Given the description of an element on the screen output the (x, y) to click on. 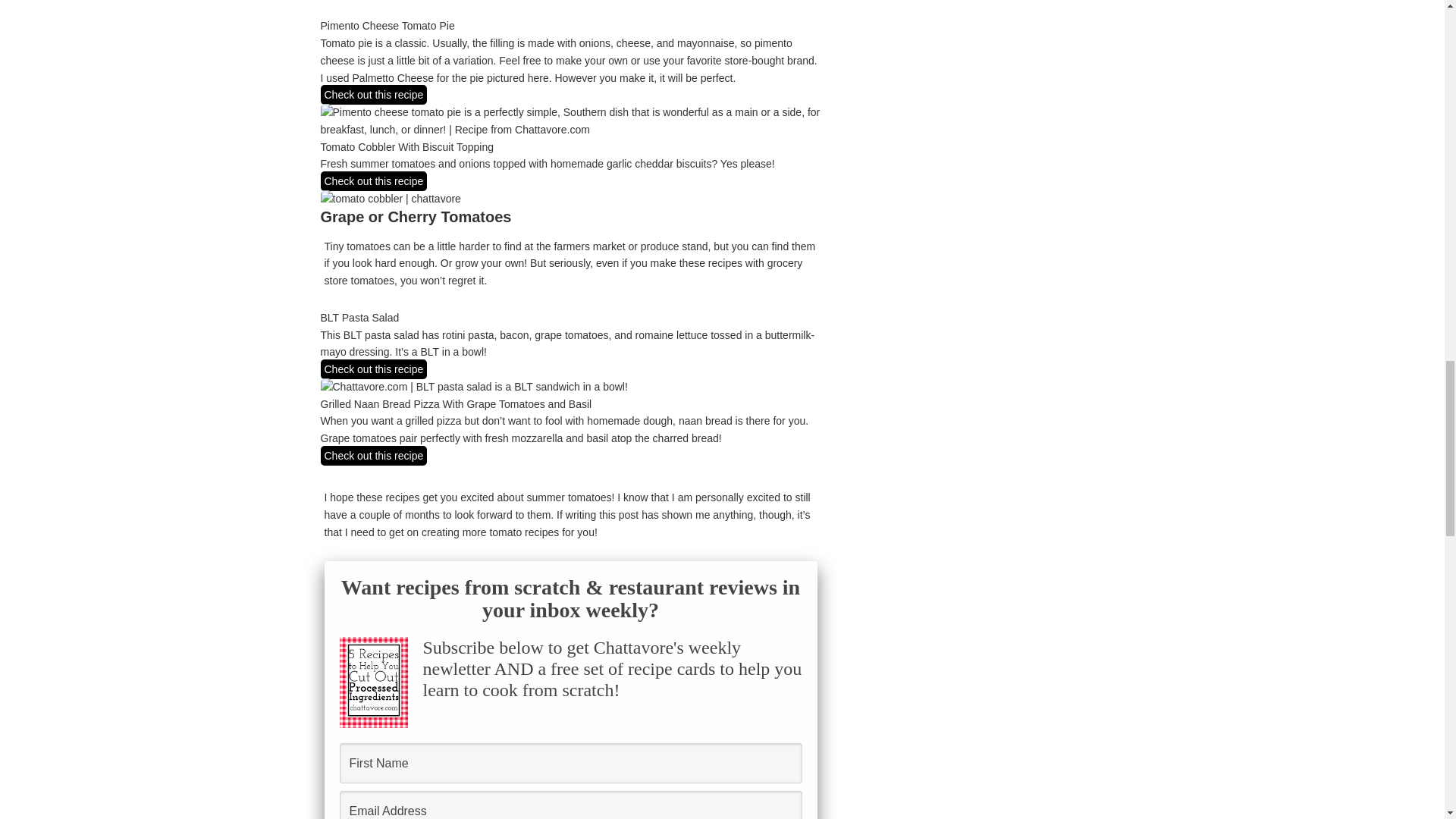
Instant Pot Lemon Cheesecake With Animal Cracker Crust (767, 525)
BY COURSE (435, 336)
Get the Recipe Cards! (570, 231)
9 Amazing Summer Fruit Desserts (373, 627)
Get the Recipe Cards! (570, 231)
